Given the description of an element on the screen output the (x, y) to click on. 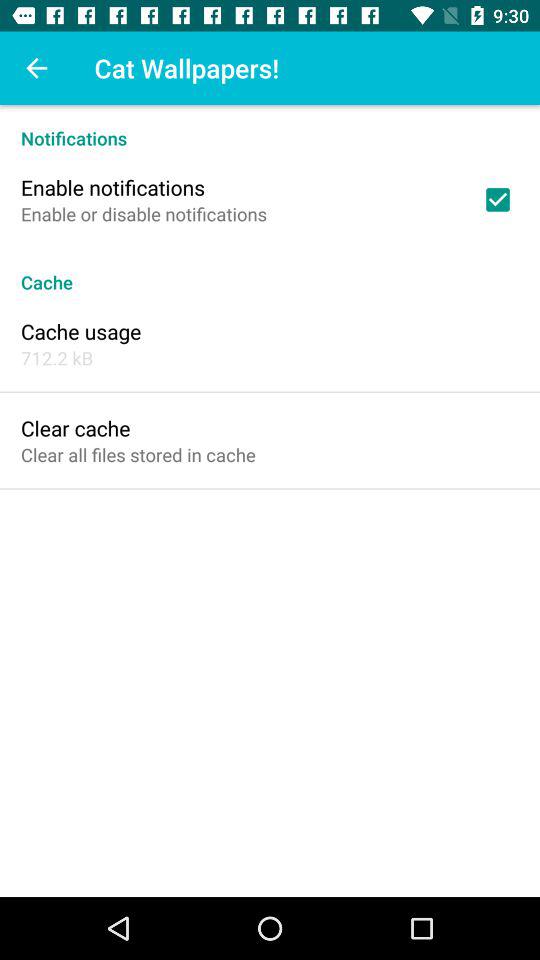
choose 712.2 kb (57, 357)
